Given the description of an element on the screen output the (x, y) to click on. 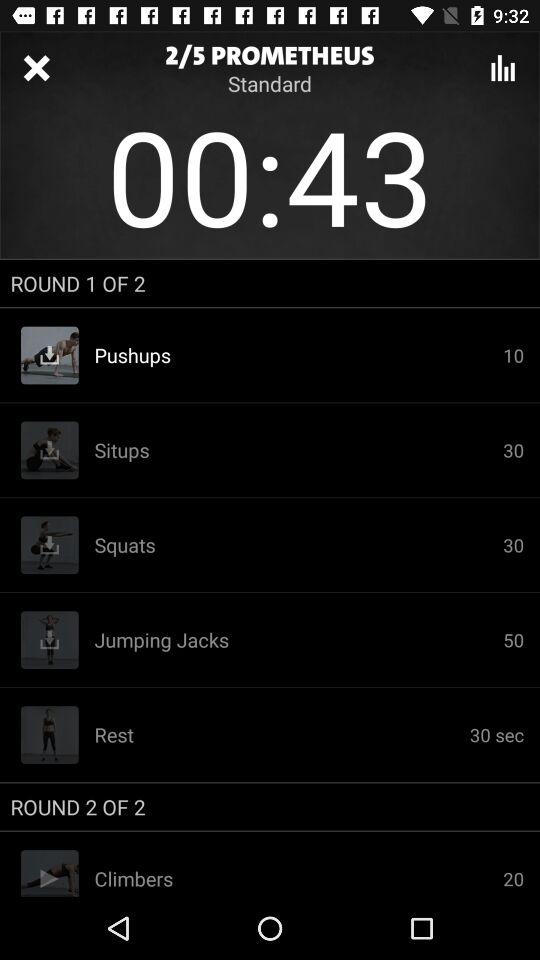
turn on the icon above the 00:43 item (503, 68)
